Given the description of an element on the screen output the (x, y) to click on. 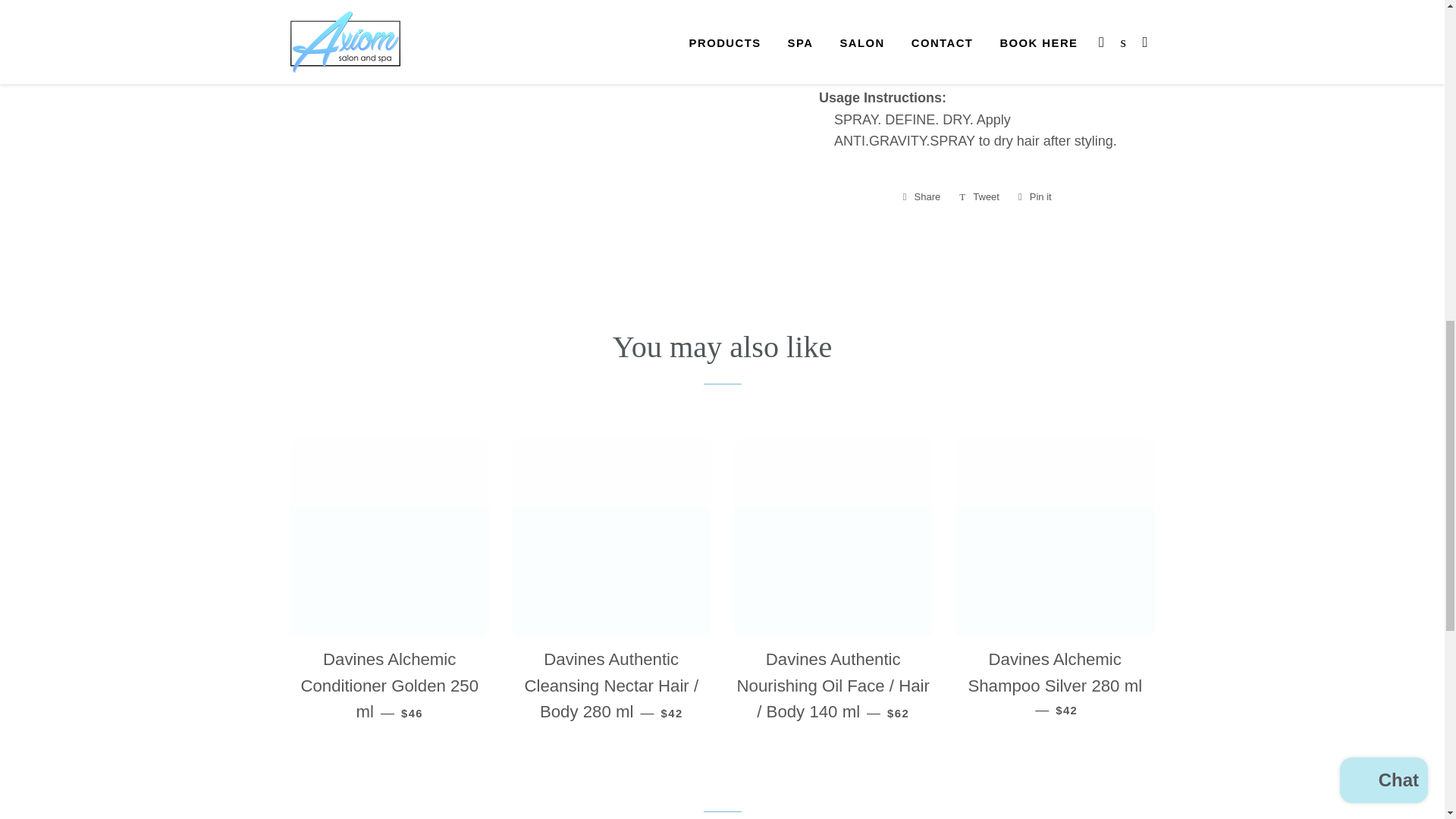
Pin on Pinterest (979, 196)
Share on Facebook (921, 196)
Tweet on Twitter (1034, 196)
